Given the description of an element on the screen output the (x, y) to click on. 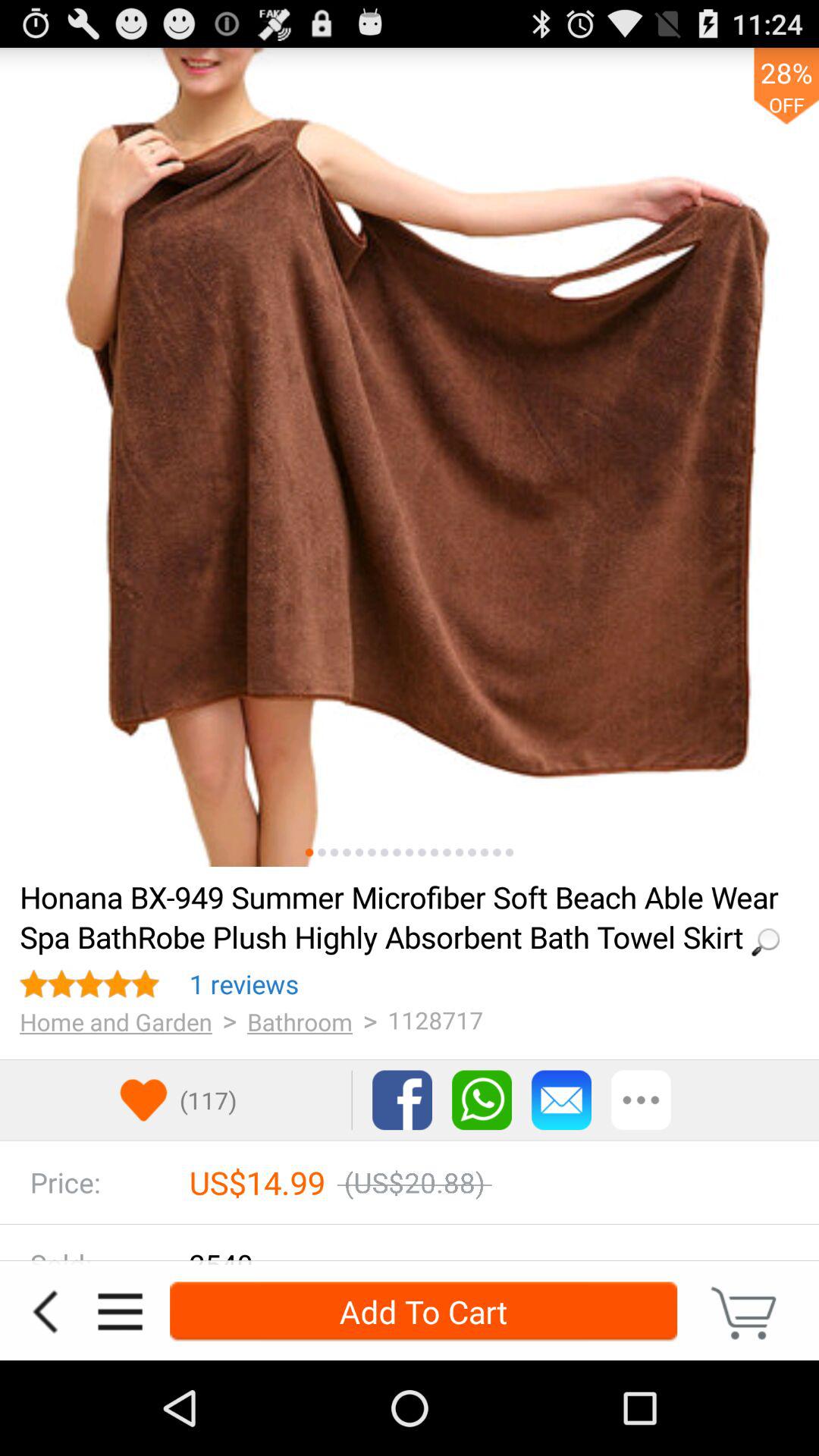
contact through email (561, 1100)
